Given the description of an element on the screen output the (x, y) to click on. 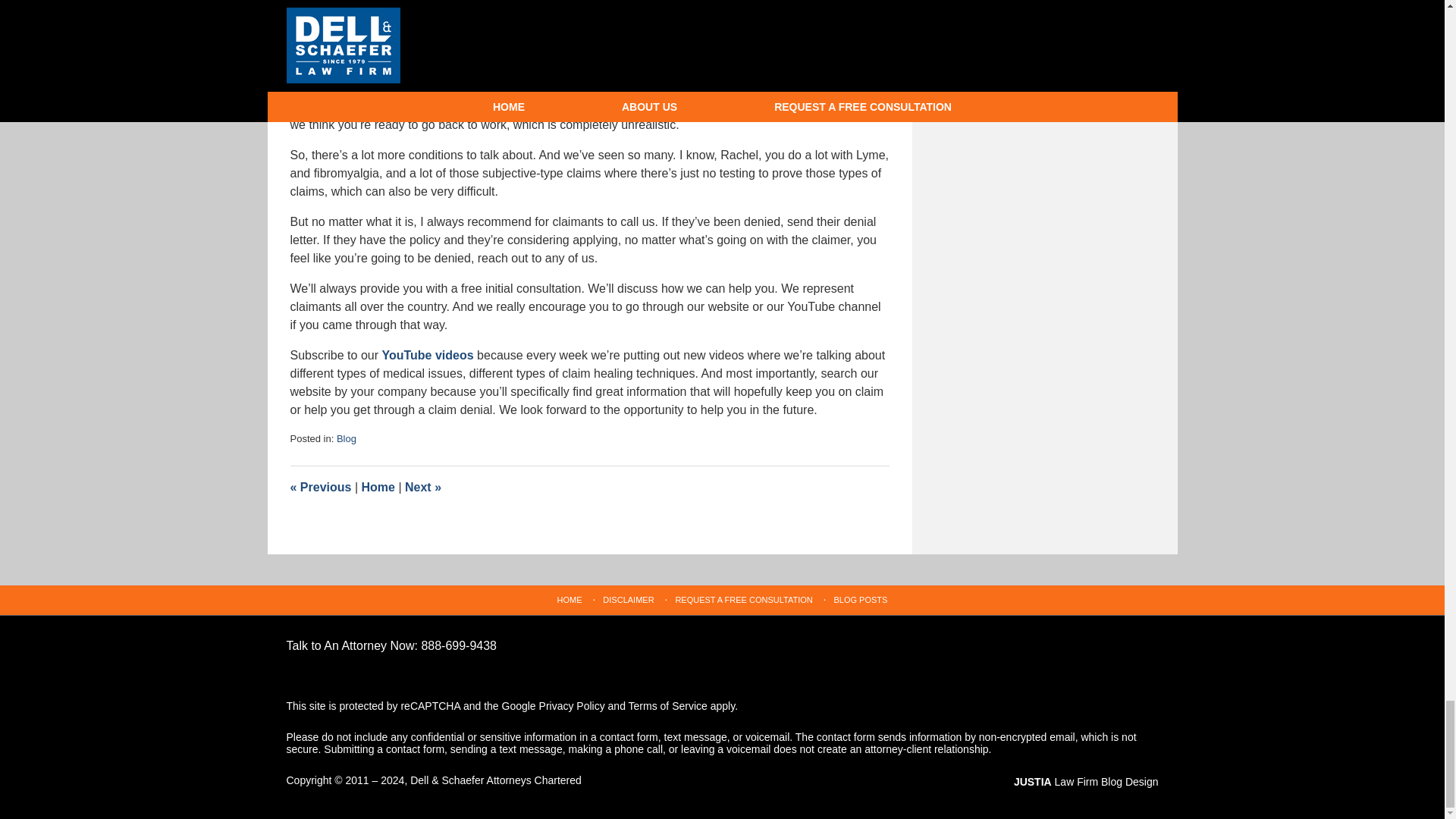
YouTube videos (427, 354)
How Do I Qualify for Disability Insurance Benefits? (422, 486)
Home (377, 486)
View all posts in Blog (346, 438)
Blog (346, 438)
